Given the description of an element on the screen output the (x, y) to click on. 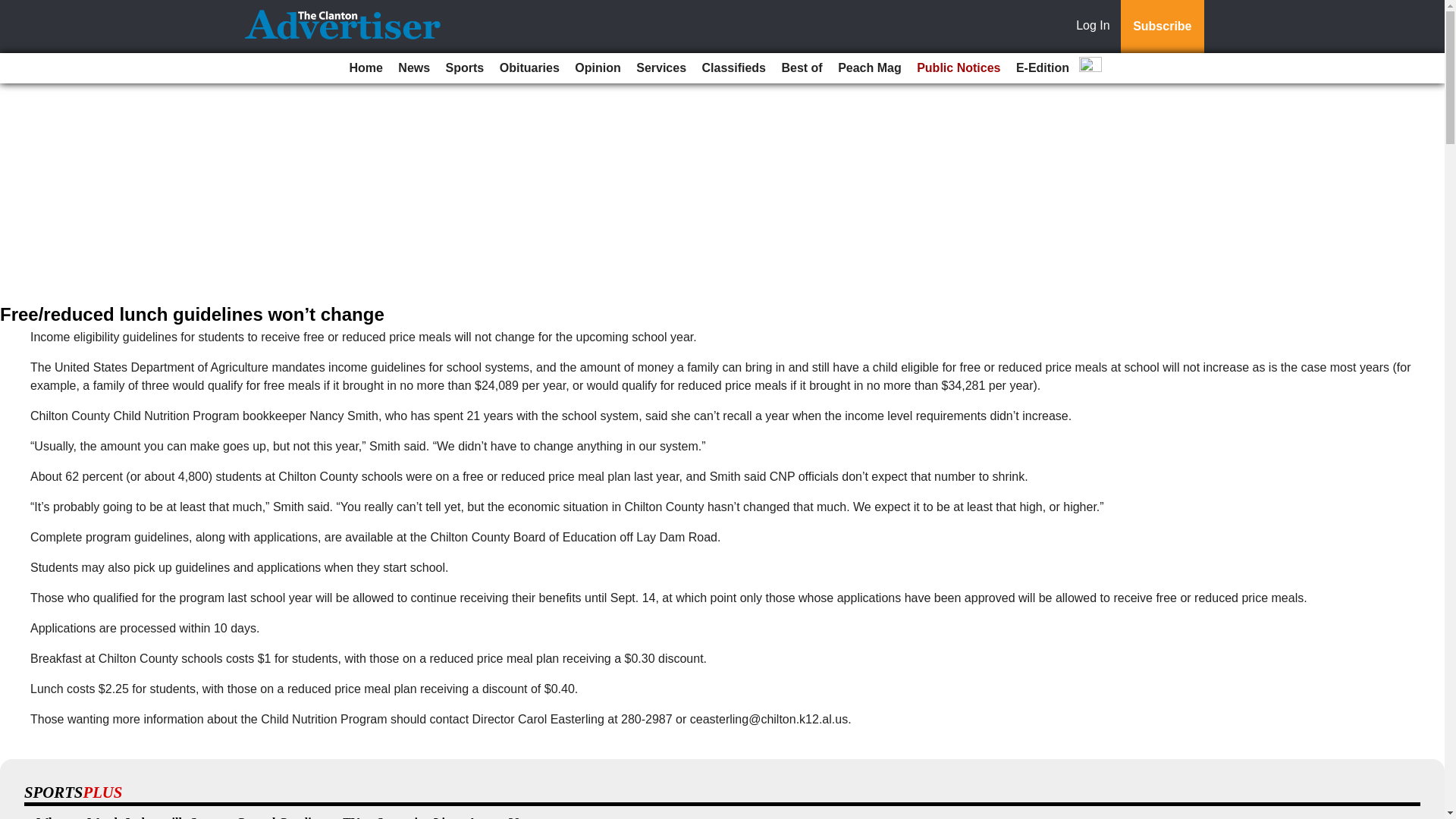
E-Edition (1042, 68)
Obituaries (529, 68)
Home (365, 68)
Public Notices (958, 68)
News (413, 68)
Classifieds (733, 68)
Log In (1095, 26)
Opinion (597, 68)
Best of (801, 68)
Peach Mag (869, 68)
